Given the description of an element on the screen output the (x, y) to click on. 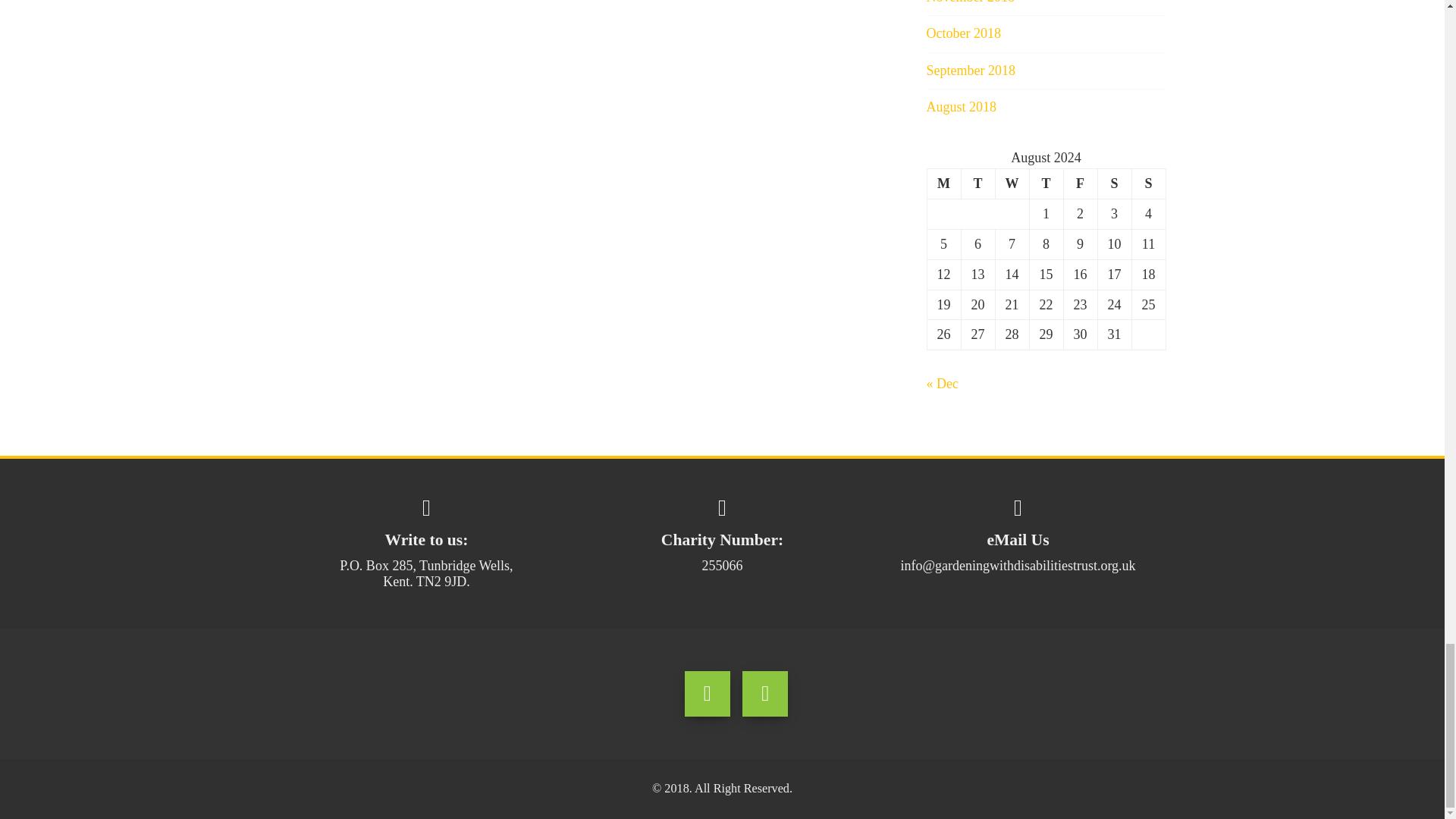
Facebook (707, 693)
Tuesday (977, 183)
Saturday (1114, 183)
Friday (1079, 183)
Thursday (1045, 183)
Monday (943, 183)
Sunday (1148, 183)
Wednesday (1011, 183)
